Given the description of an element on the screen output the (x, y) to click on. 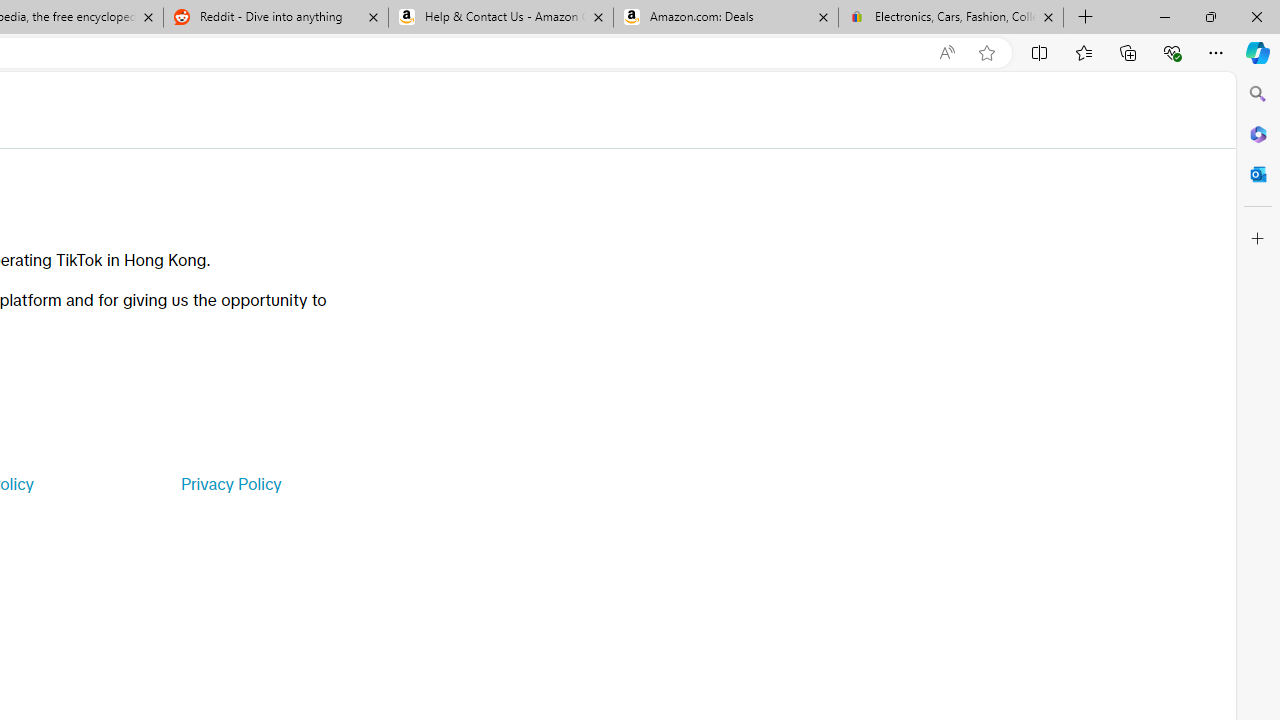
Amazon.com: Deals (726, 17)
